Given the description of an element on the screen output the (x, y) to click on. 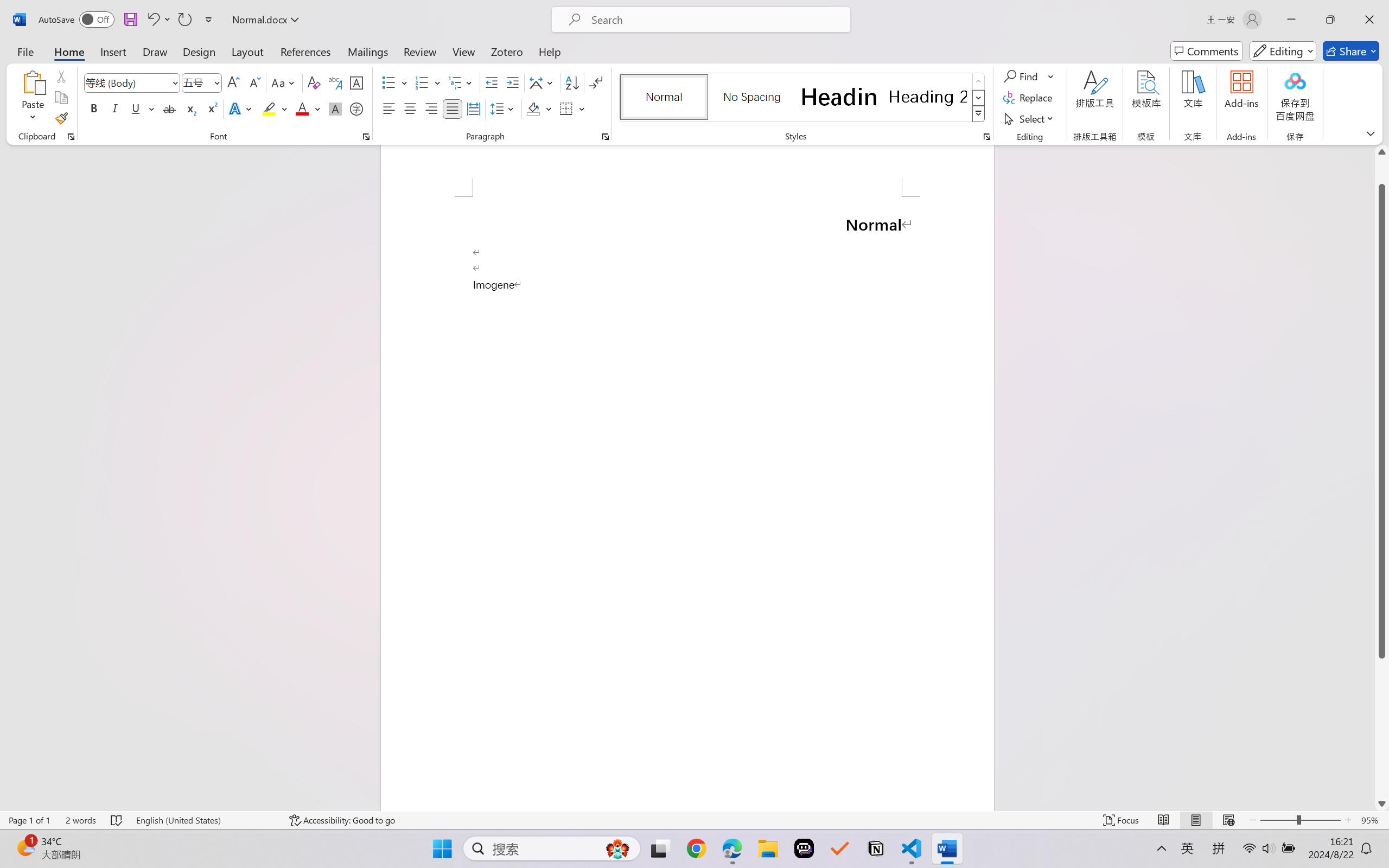
Bold (94, 108)
Italic (115, 108)
Row Down (978, 97)
Microsoft search (715, 19)
Help (549, 51)
Replace... (1029, 97)
Phonetic Guide... (334, 82)
Row up (978, 81)
